Given the description of an element on the screen output the (x, y) to click on. 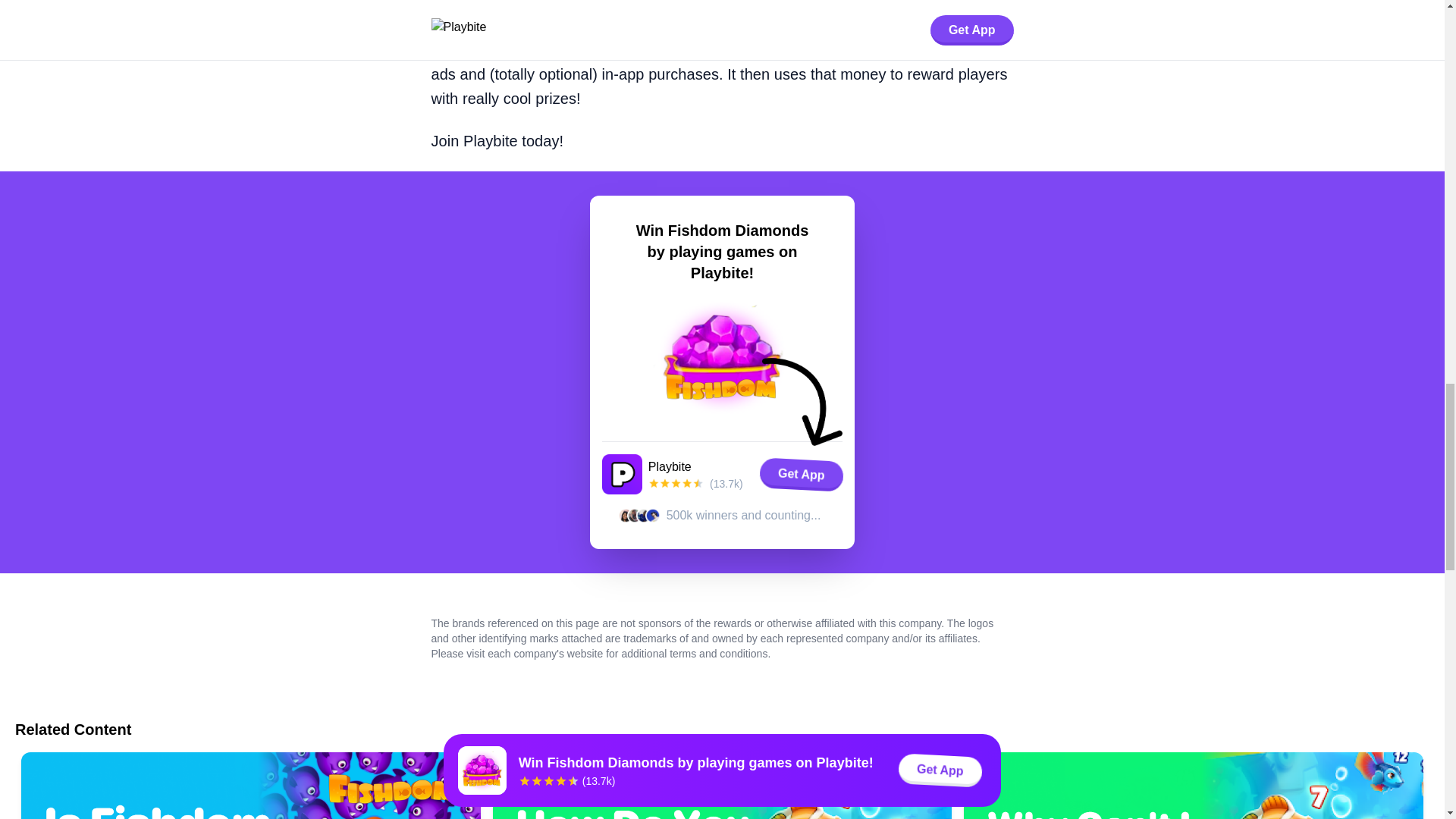
Get App (800, 473)
Is Fishdom Available on PC? (250, 785)
Join Playbite (473, 140)
Why Can't I Play the Fishdom Games as Advertised? (1193, 785)
Get App (800, 474)
How Do You Earn Gold Vouchers on Fishdom? (722, 785)
